Given the description of an element on the screen output the (x, y) to click on. 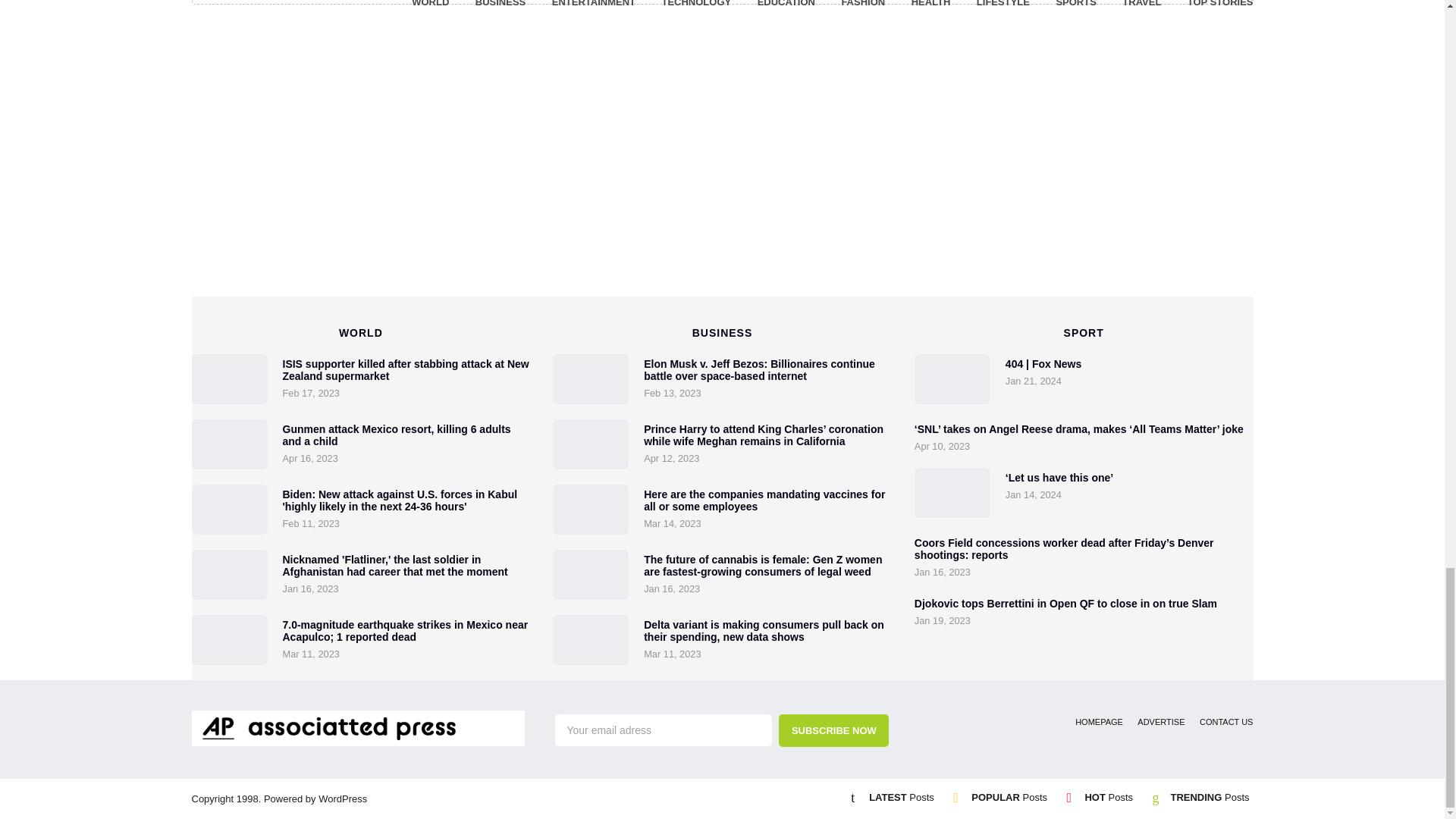
Subscribe Now (833, 730)
